Given the description of an element on the screen output the (x, y) to click on. 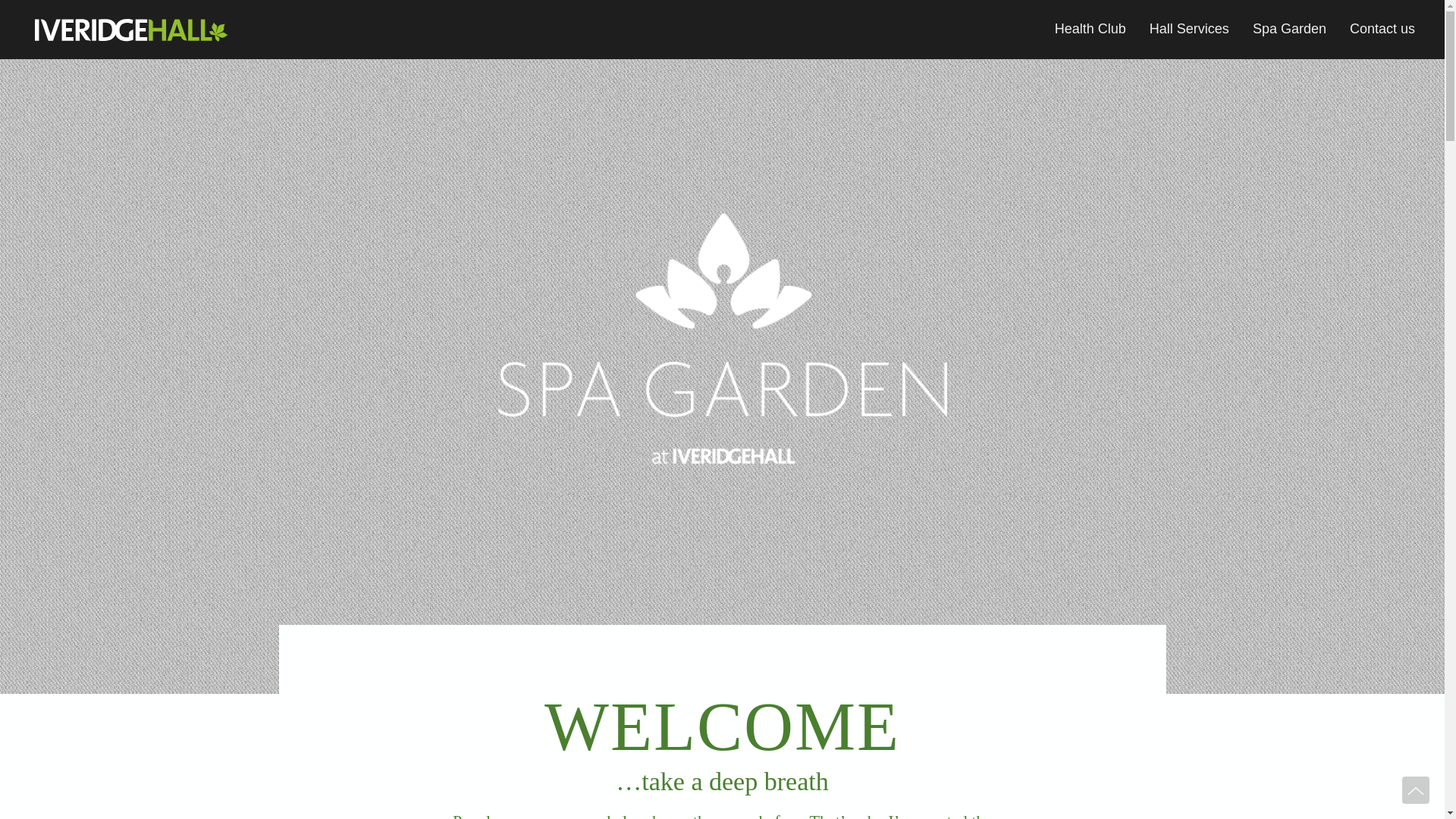
Spa Garden (1289, 29)
Hall Services (1188, 29)
Health Club (1090, 29)
Contact us (1382, 29)
